Given the description of an element on the screen output the (x, y) to click on. 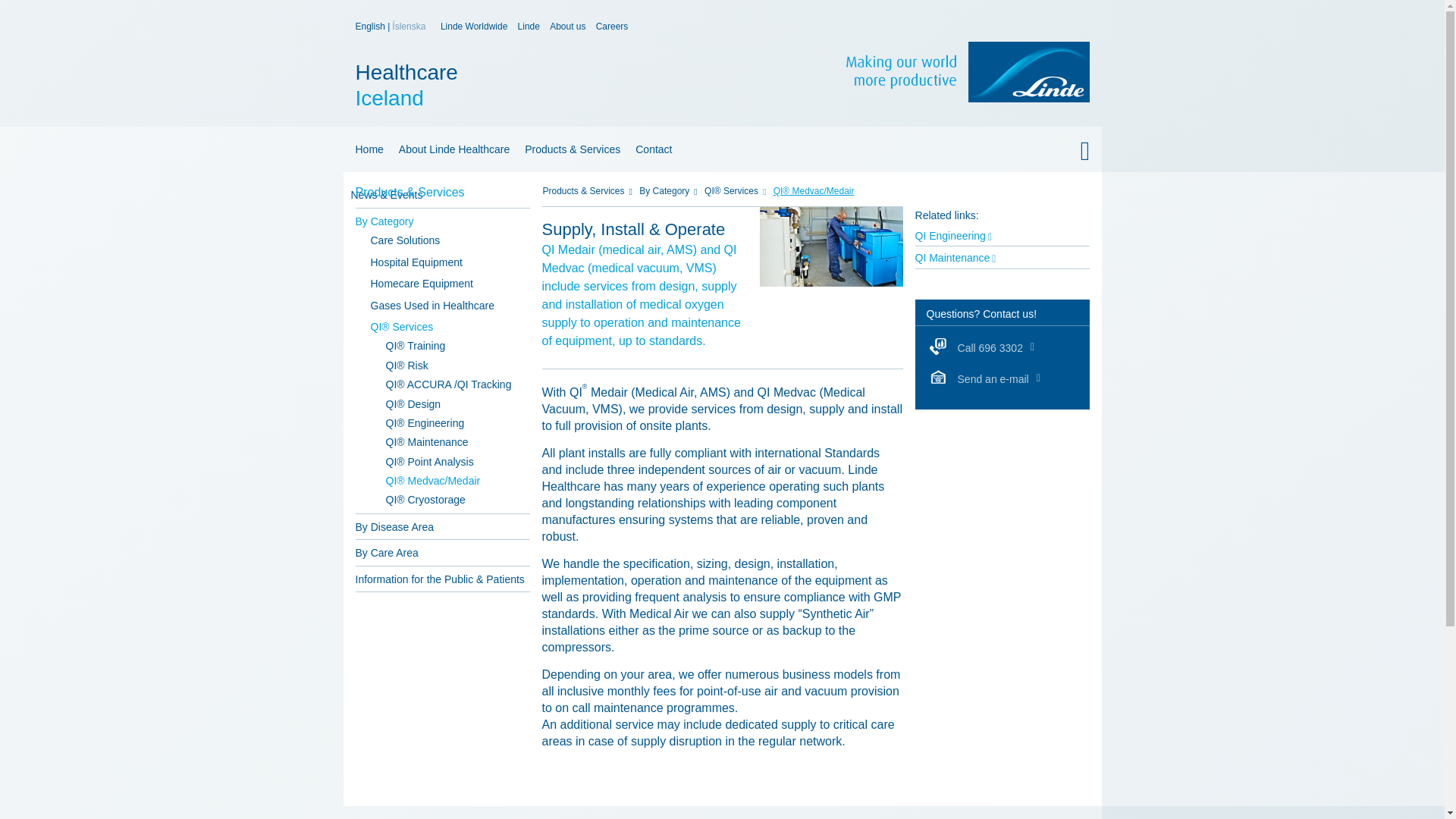
Careers (611, 26)
Linde (574, 84)
Linde Worldwide (529, 26)
About us (474, 26)
English  (567, 26)
Home (371, 26)
About Linde Healthcare (366, 148)
About Linde Healthcare (453, 148)
